Given the description of an element on the screen output the (x, y) to click on. 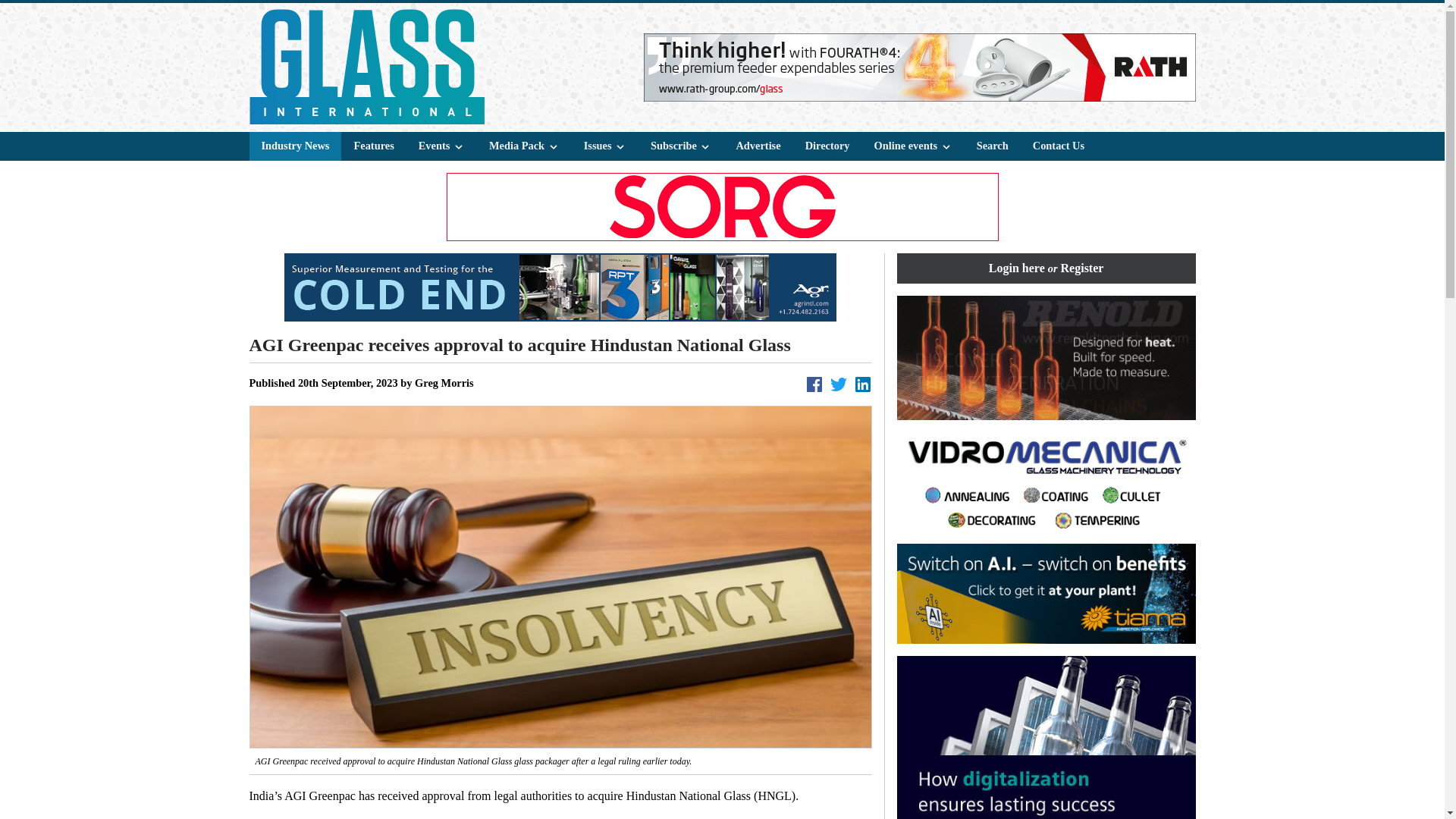
Features (373, 145)
Directory (827, 145)
Share on Twitter (838, 384)
Issues (605, 145)
Online events (912, 146)
Online events (912, 145)
Share on Facebook (814, 384)
Subscribe (681, 145)
Search (991, 145)
Share on LinkedIn (862, 384)
Contact Us (1058, 145)
Events (441, 145)
AGR (559, 287)
Subscribe (680, 146)
tiama (1045, 592)
